Given the description of an element on the screen output the (x, y) to click on. 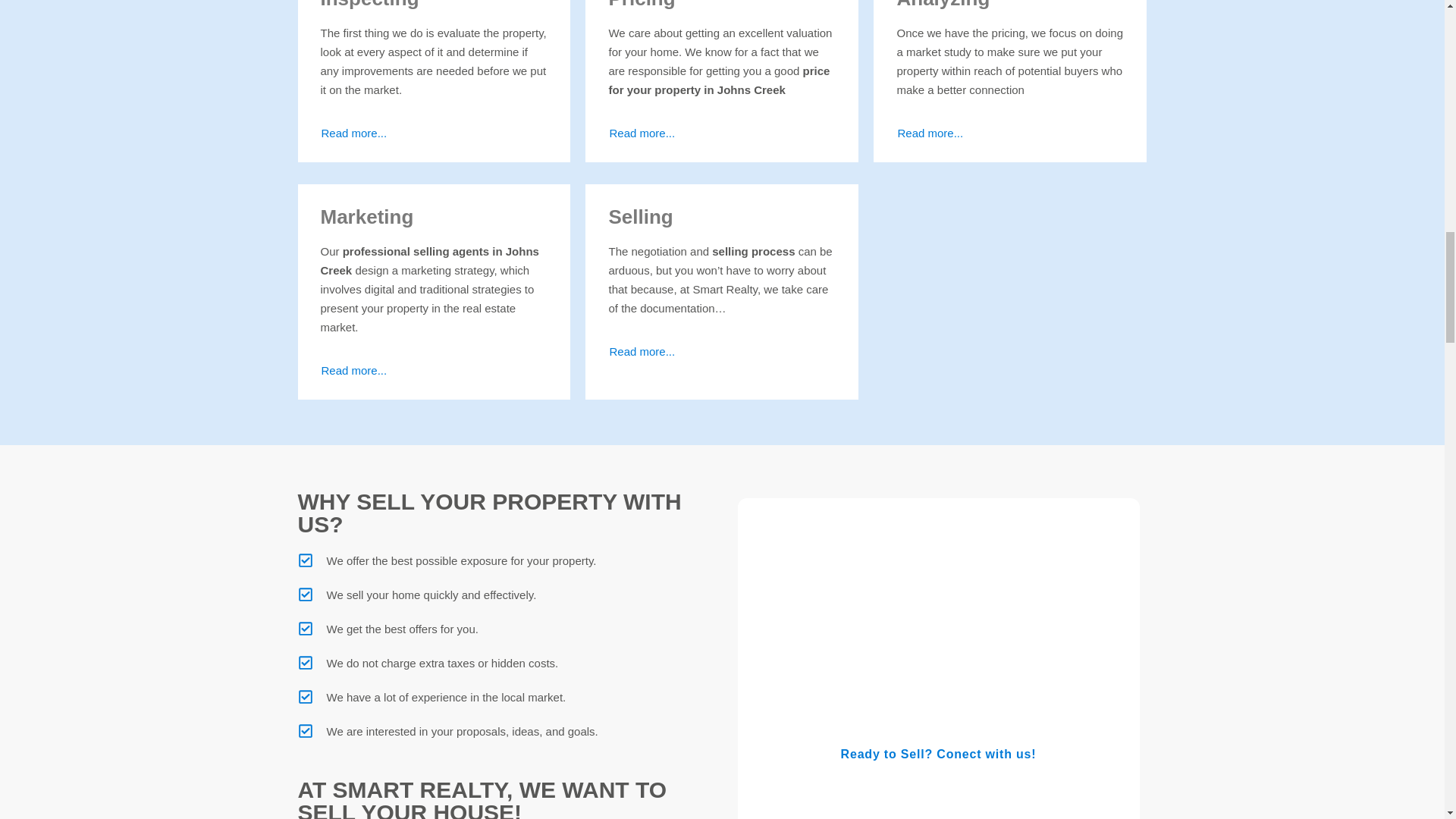
Read more... (354, 132)
Read more... (354, 369)
Read more... (641, 132)
Read more... (641, 350)
Read more... (929, 132)
